Given the description of an element on the screen output the (x, y) to click on. 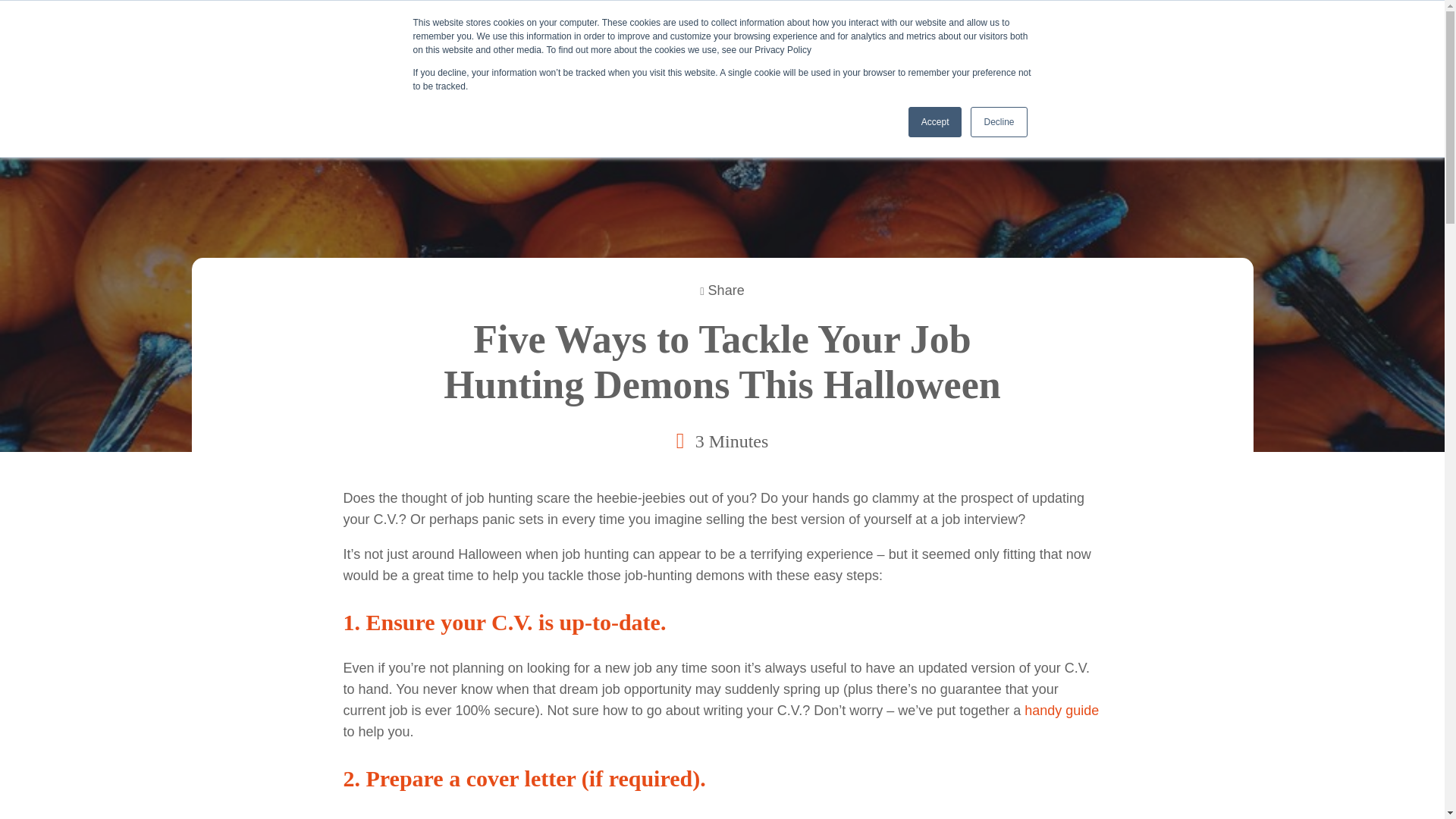
Candidates (697, 41)
Submit your CV (1227, 41)
Decline (998, 122)
Share (722, 290)
Accept (935, 122)
Back to All Posts... (262, 117)
handy guide (1062, 710)
Contact us (1098, 41)
